Given the description of an element on the screen output the (x, y) to click on. 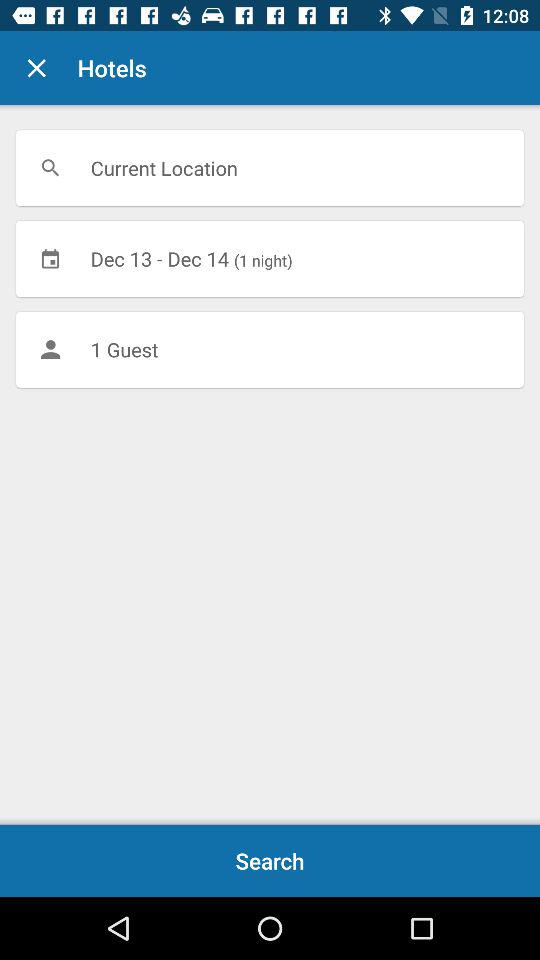
turn on the 1 guest (269, 349)
